Given the description of an element on the screen output the (x, y) to click on. 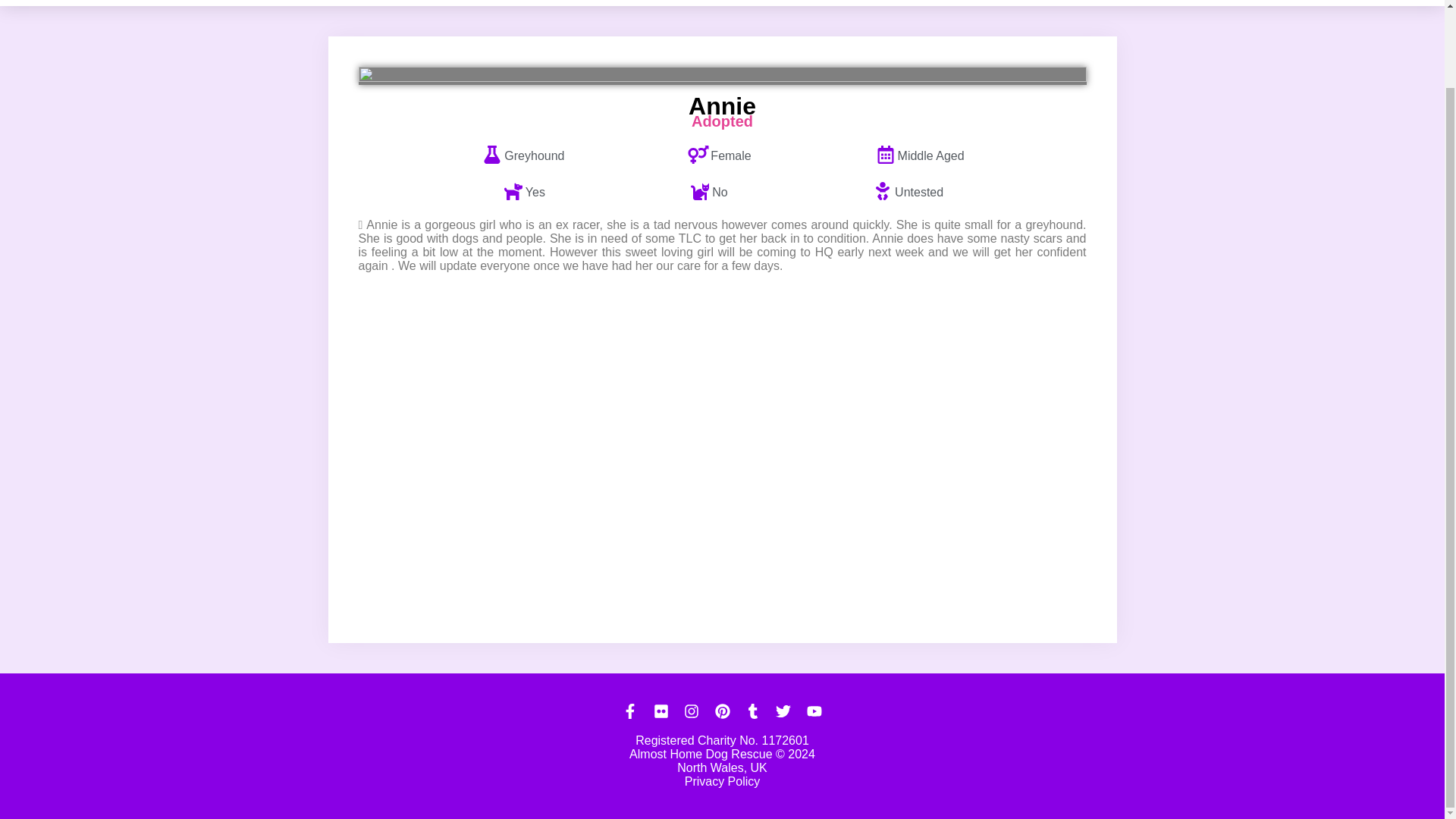
Privacy Policy (722, 780)
